Given the description of an element on the screen output the (x, y) to click on. 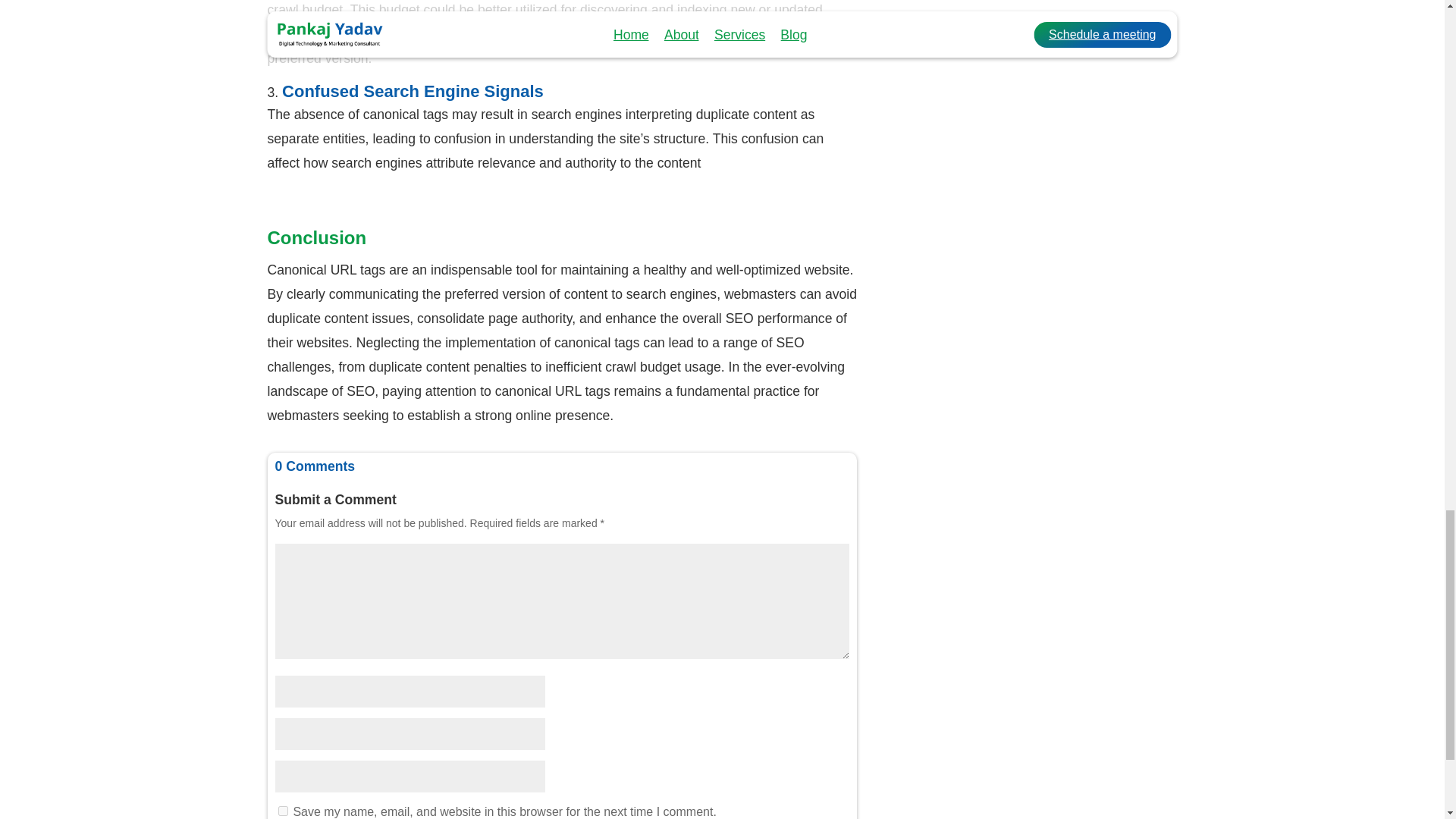
yes (282, 810)
